Given the description of an element on the screen output the (x, y) to click on. 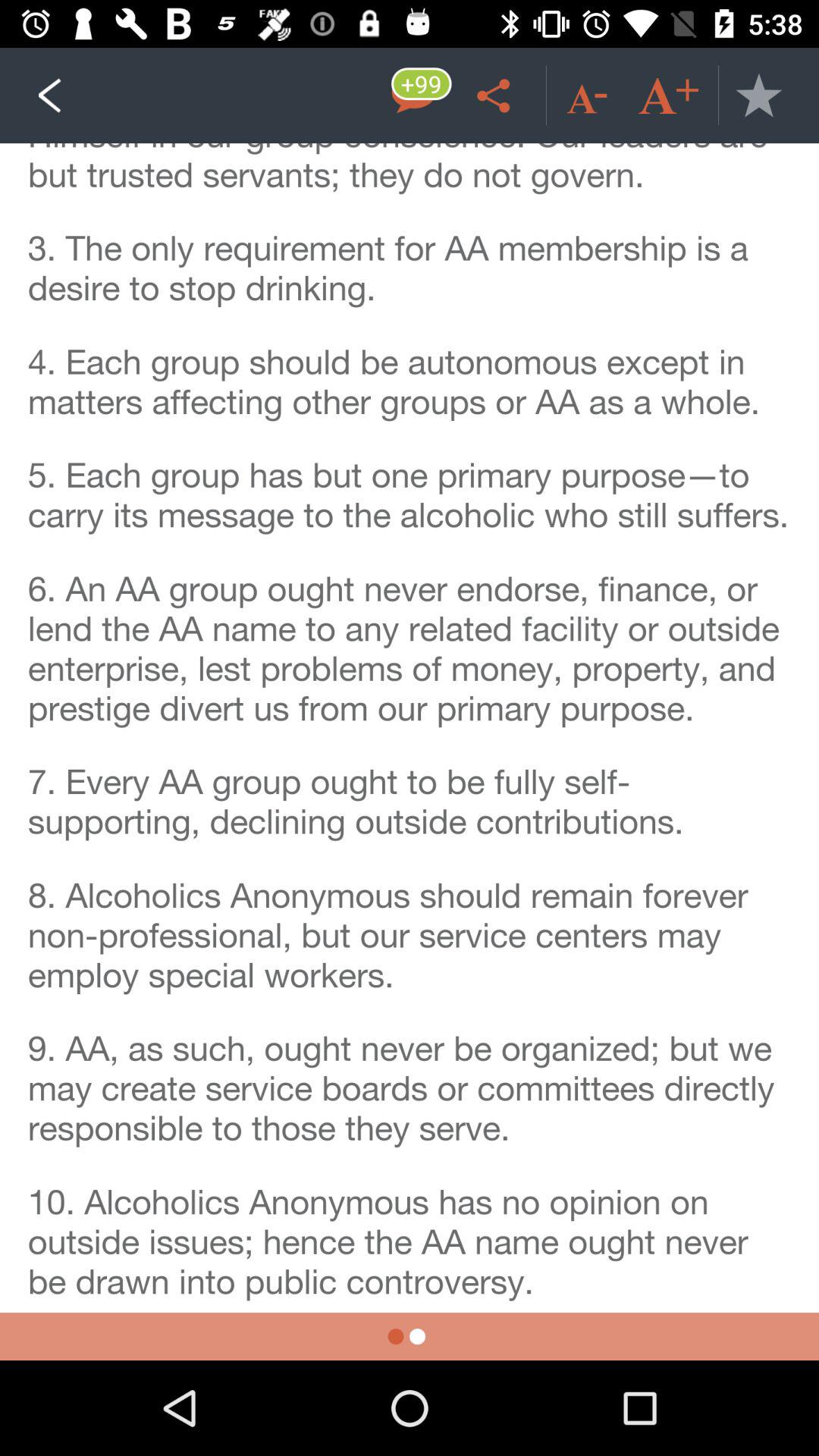
go to message box (413, 95)
